Given the description of an element on the screen output the (x, y) to click on. 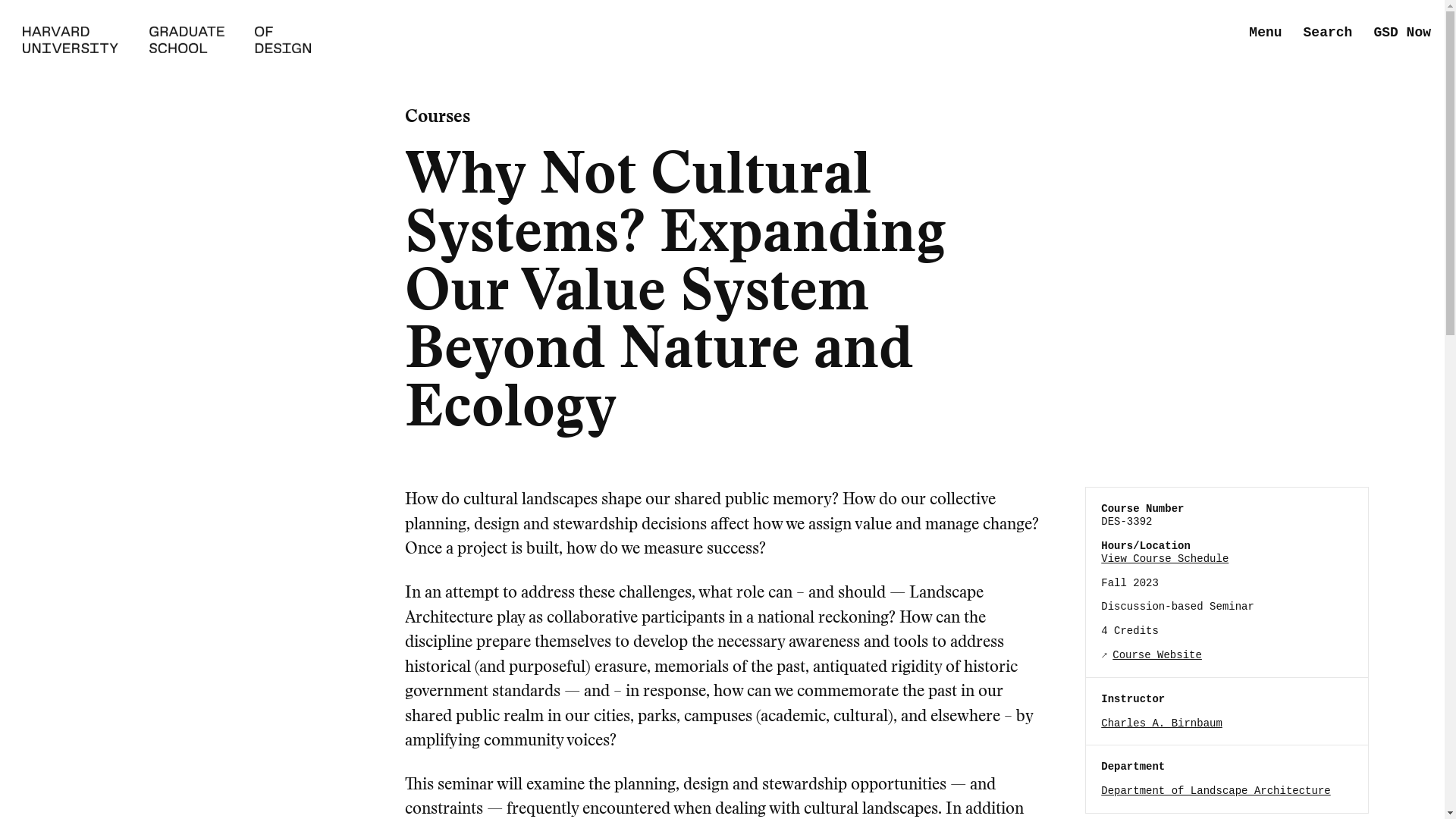
Menu (1265, 32)
GSD Now (1402, 32)
Search (1327, 32)
